Given the description of an element on the screen output the (x, y) to click on. 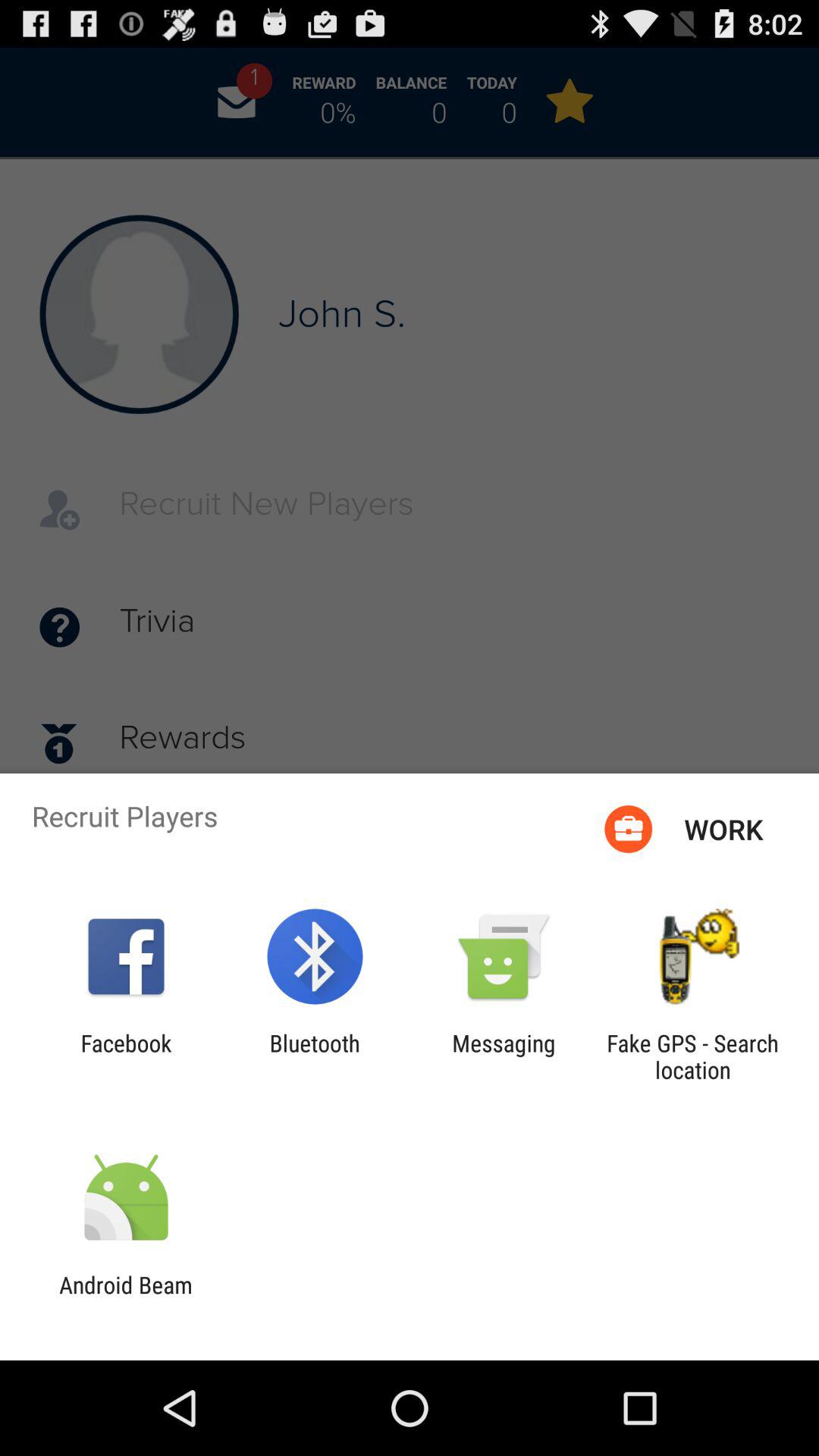
choose the icon next to bluetooth icon (125, 1056)
